Given the description of an element on the screen output the (x, y) to click on. 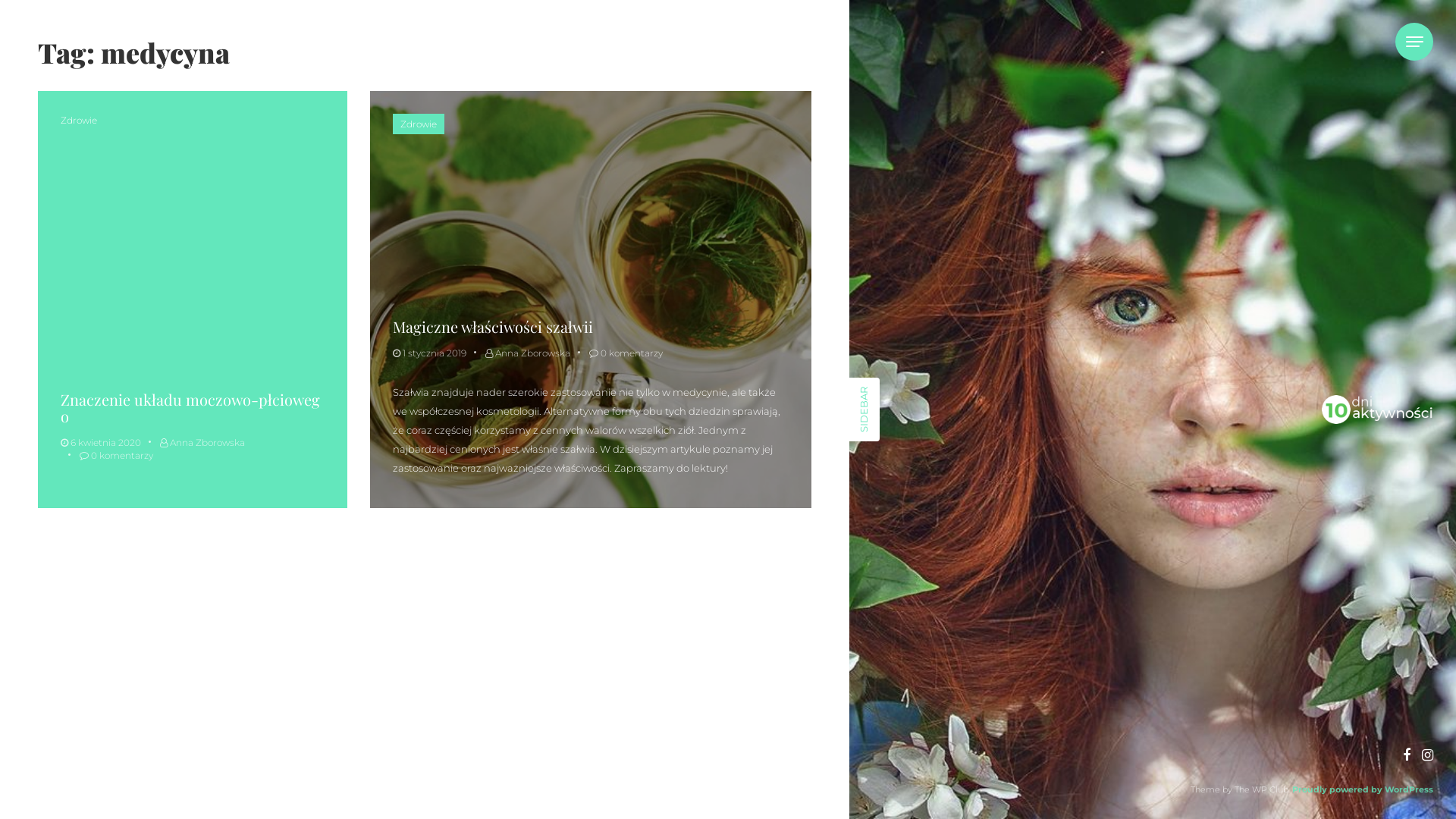
Search Element type: text (772, 54)
Zdrowie Element type: text (78, 119)
Anna Zborowska Element type: text (527, 352)
Proudly powered by WordPress Element type: text (1362, 789)
Anna Zborowska Element type: text (202, 442)
SIDEBAR Element type: text (881, 392)
Zdrowie Element type: text (418, 123)
